Given the description of an element on the screen output the (x, y) to click on. 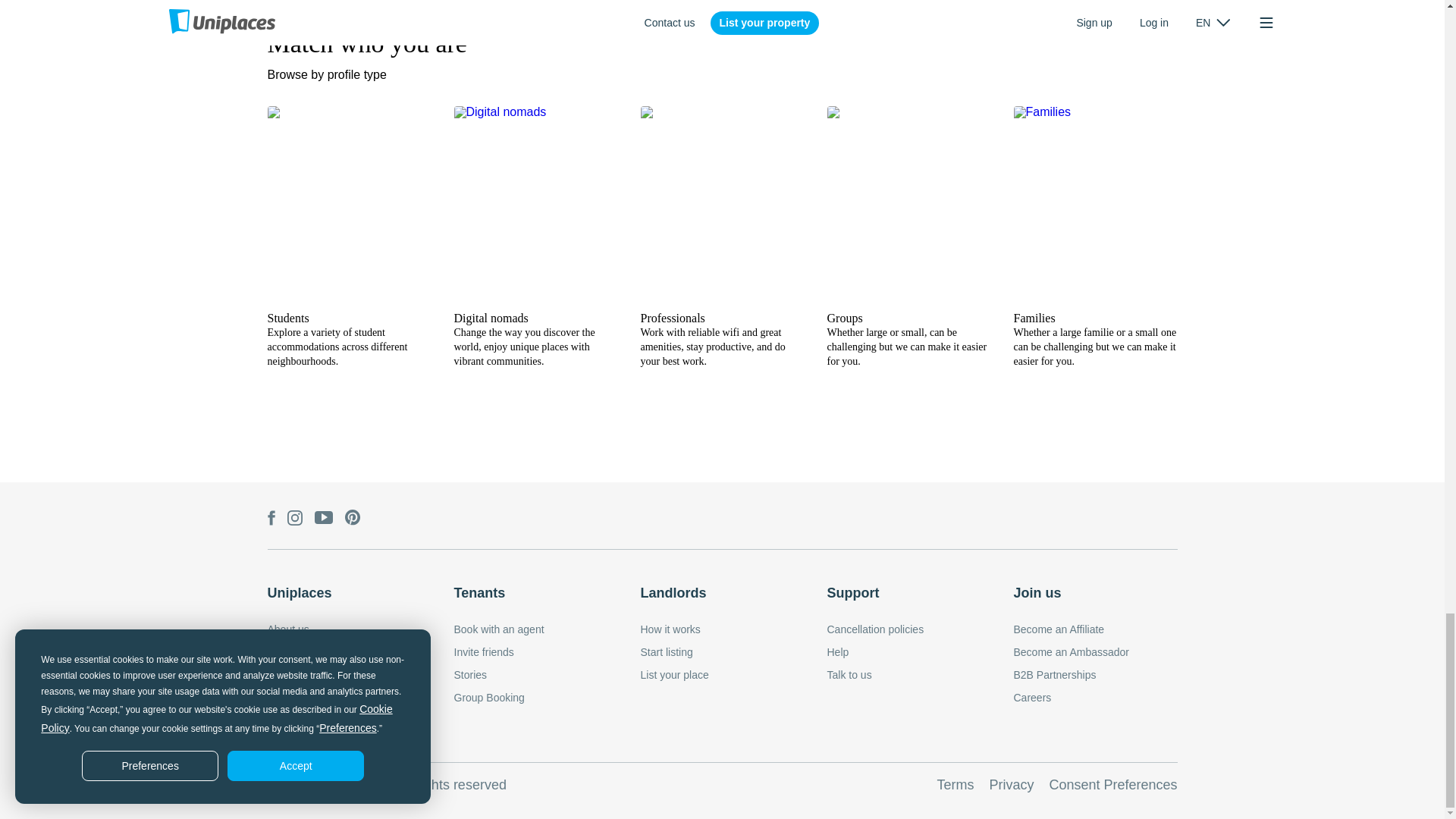
Youtube (322, 518)
Facebook (270, 518)
Pinterest (351, 518)
Instagram (293, 518)
